Given the description of an element on the screen output the (x, y) to click on. 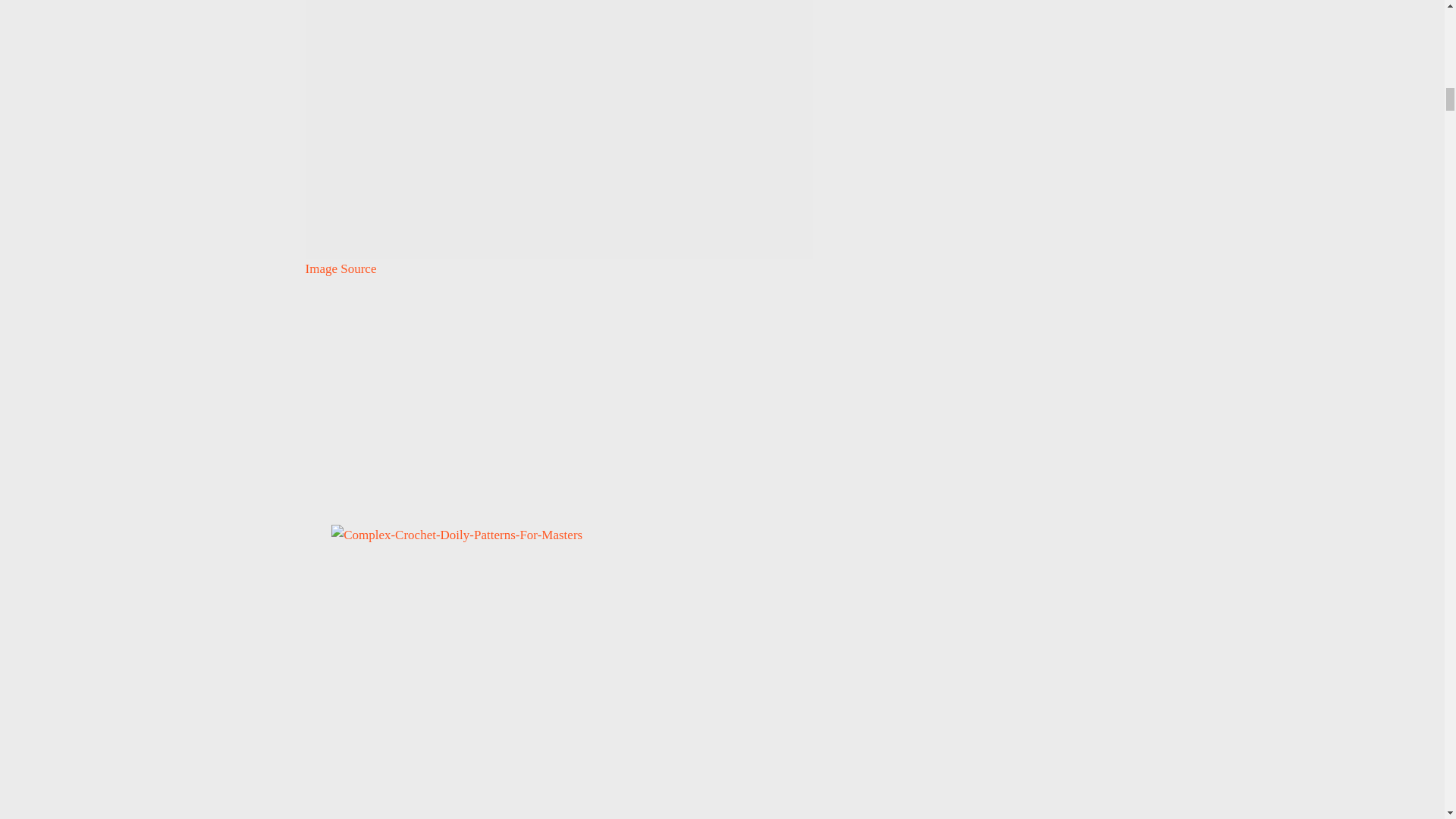
Image Source (339, 268)
